Given the description of an element on the screen output the (x, y) to click on. 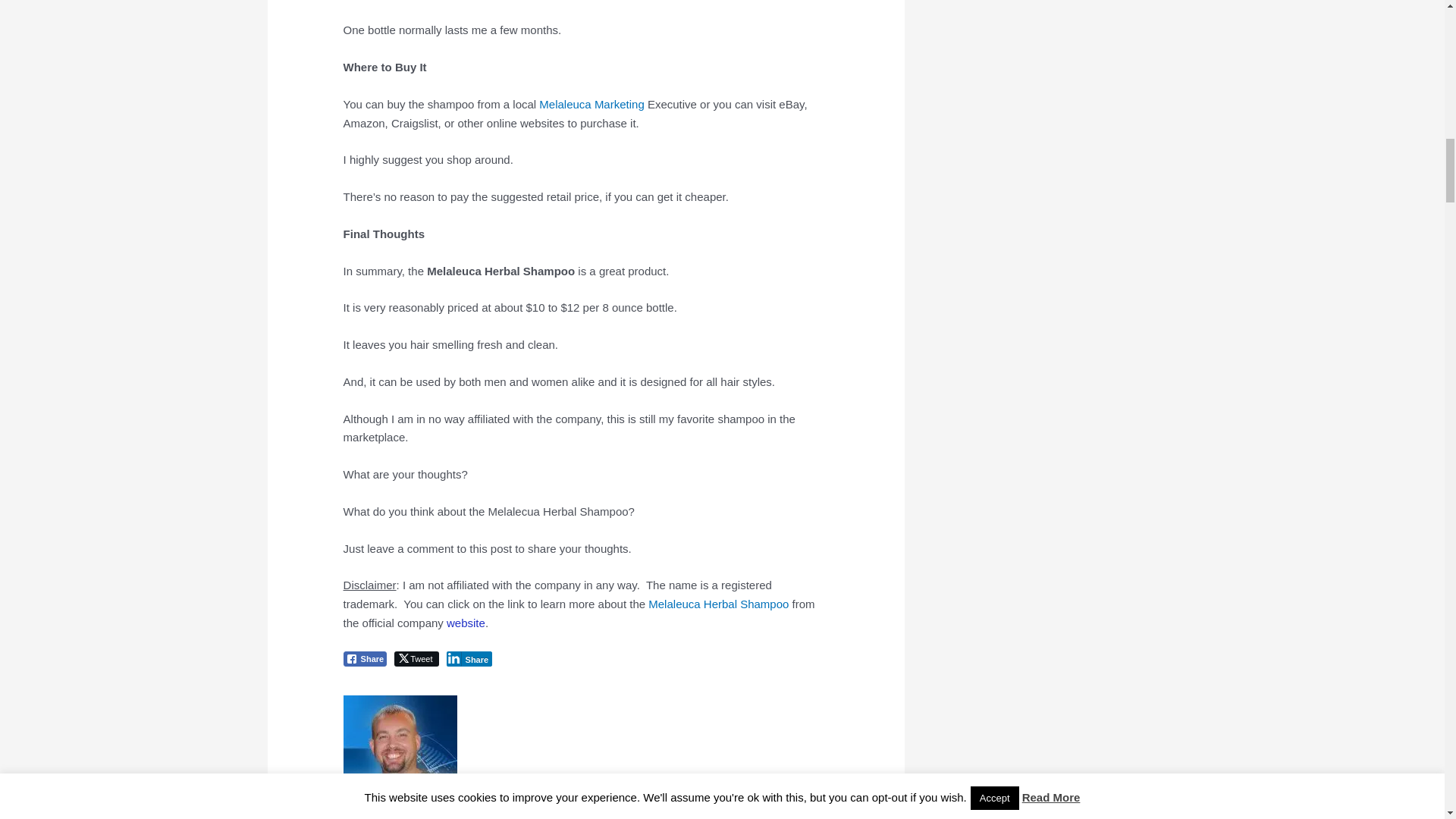
Site Ground (465, 622)
Ed Bestoso: Melaleuca Success Story Corporate Director VI (564, 103)
Mela Herbal Shampoo (718, 603)
Best Places to Advertise (619, 103)
